Given the description of an element on the screen output the (x, y) to click on. 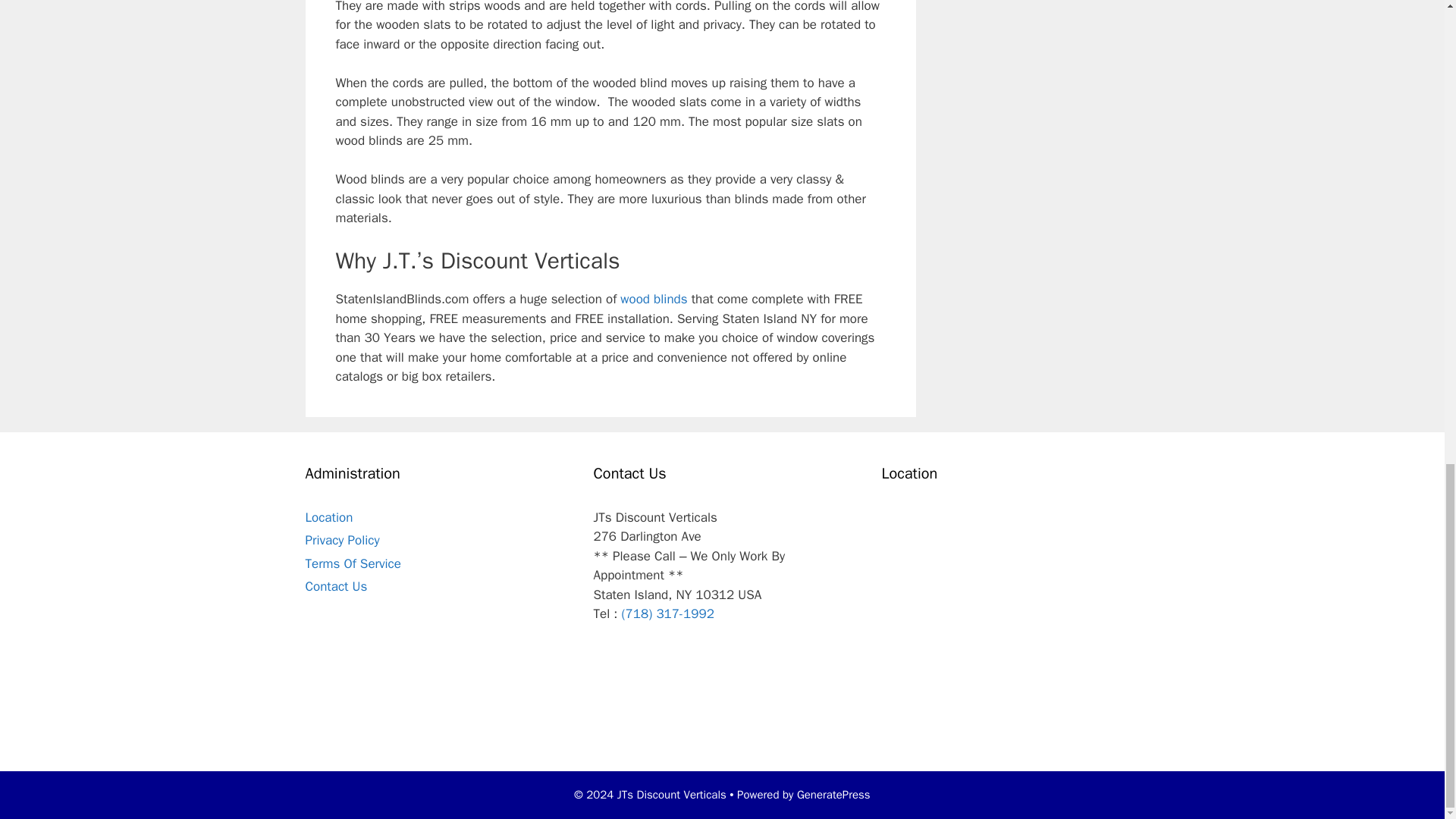
wood blinds (653, 299)
